Given the description of an element on the screen output the (x, y) to click on. 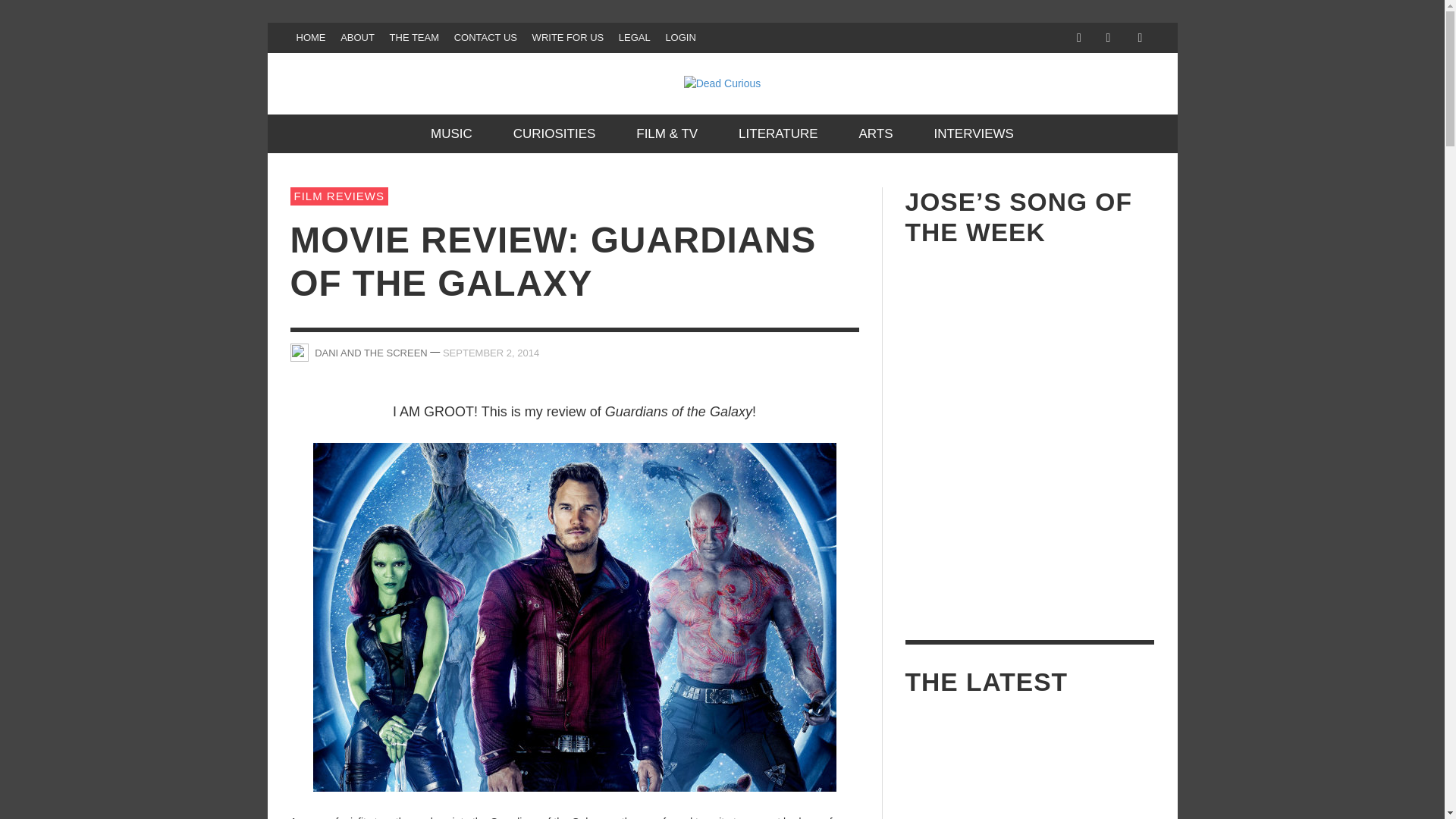
Facebook (1078, 37)
THE TEAM (414, 37)
MUSIC (452, 133)
Twitter (1107, 37)
ABOUT (357, 37)
LEGAL (634, 37)
WRITE FOR US (567, 37)
HOME (310, 37)
CONTACT US (485, 37)
LOGIN (680, 37)
